Given the description of an element on the screen output the (x, y) to click on. 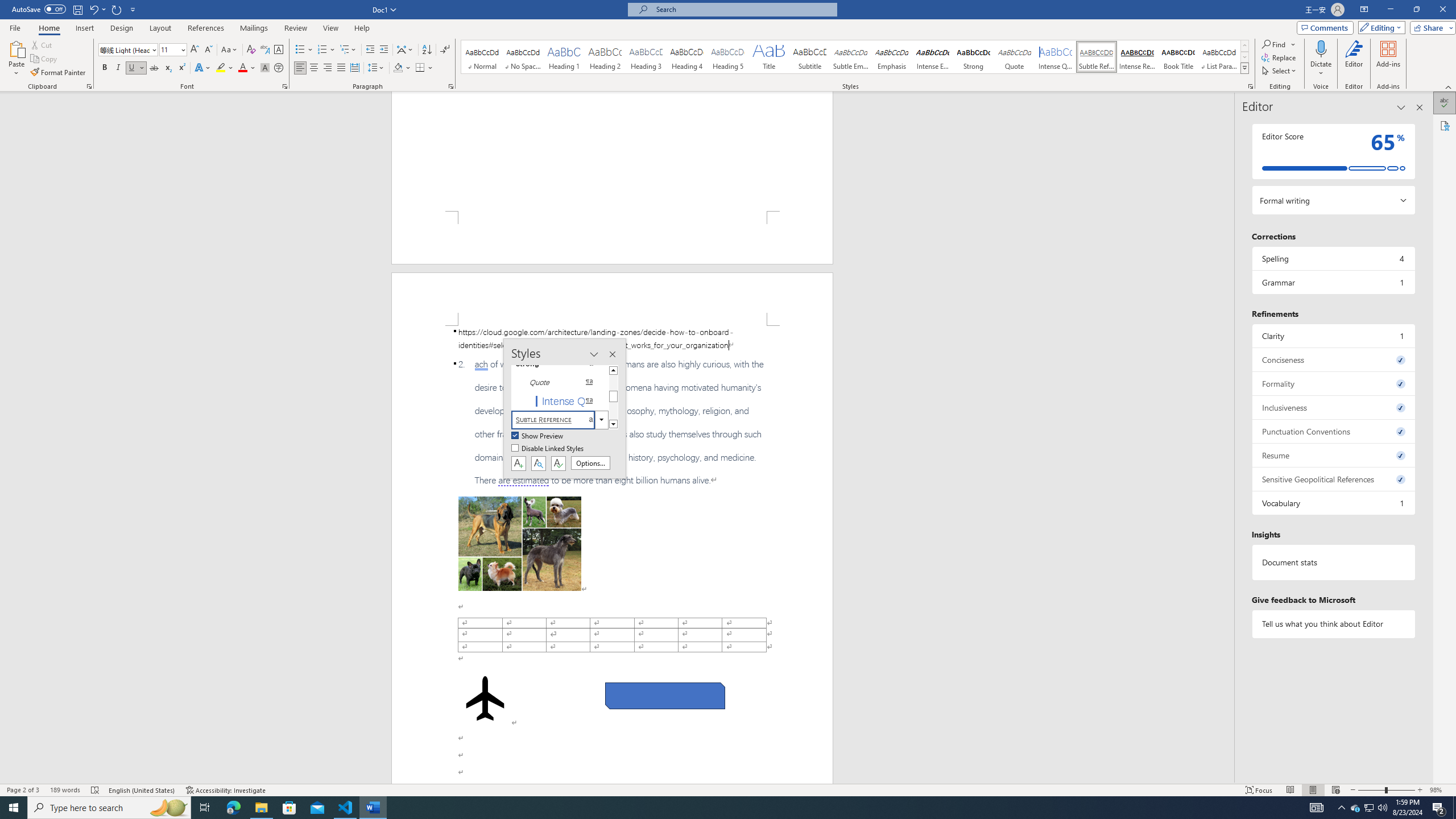
Paragraph... (450, 85)
Conciseness, 0 issues. Press space or enter to review items. (1333, 359)
Strikethrough (154, 67)
Header -Section 1- (611, 298)
Undo Style (96, 9)
Class: NetUIScrollBar (1229, 437)
